Given the description of an element on the screen output the (x, y) to click on. 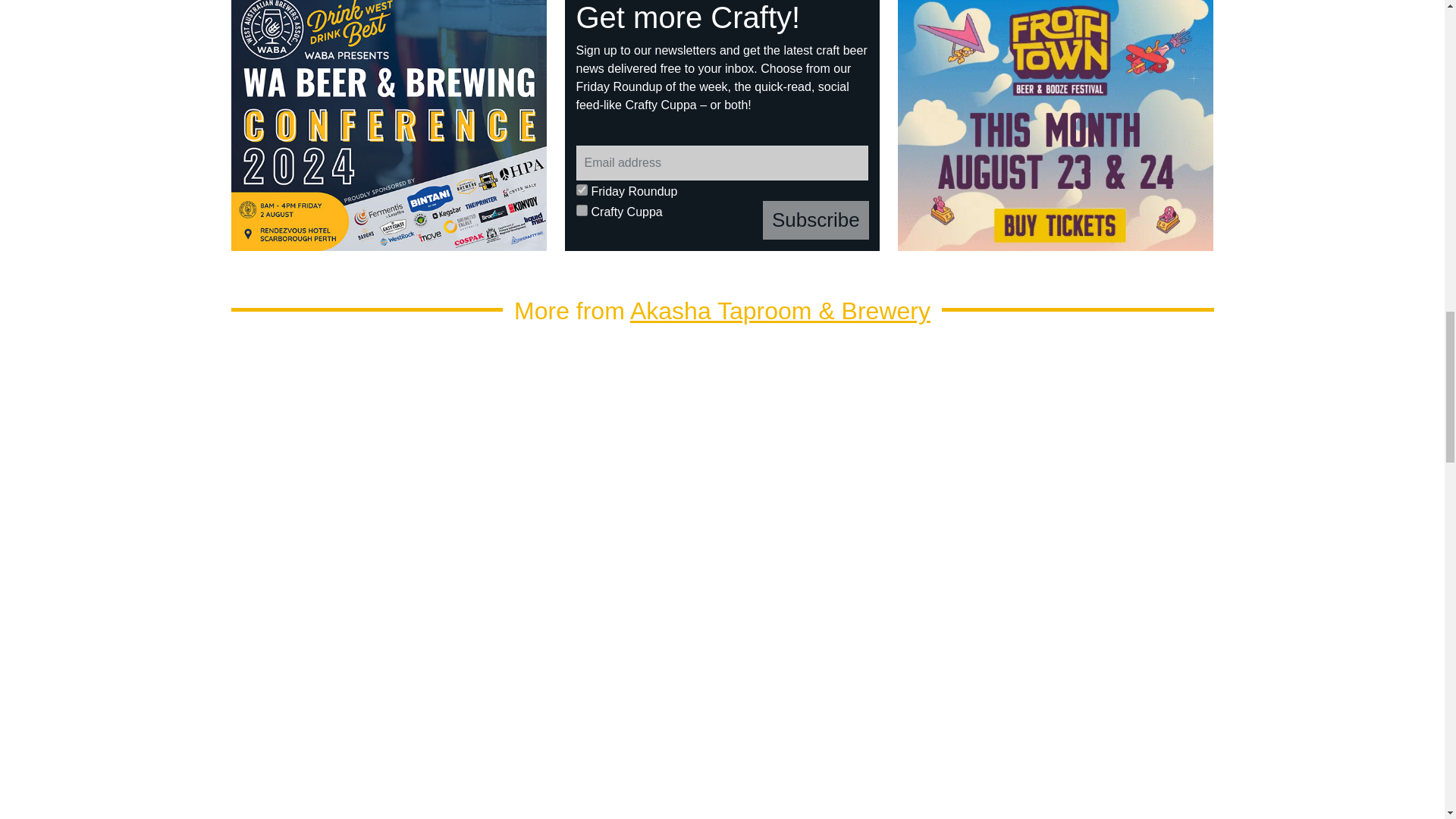
Subscribe (815, 219)
cuppa (582, 210)
Froth Town 2024 B 2 (1055, 125)
friday (582, 189)
